Given the description of an element on the screen output the (x, y) to click on. 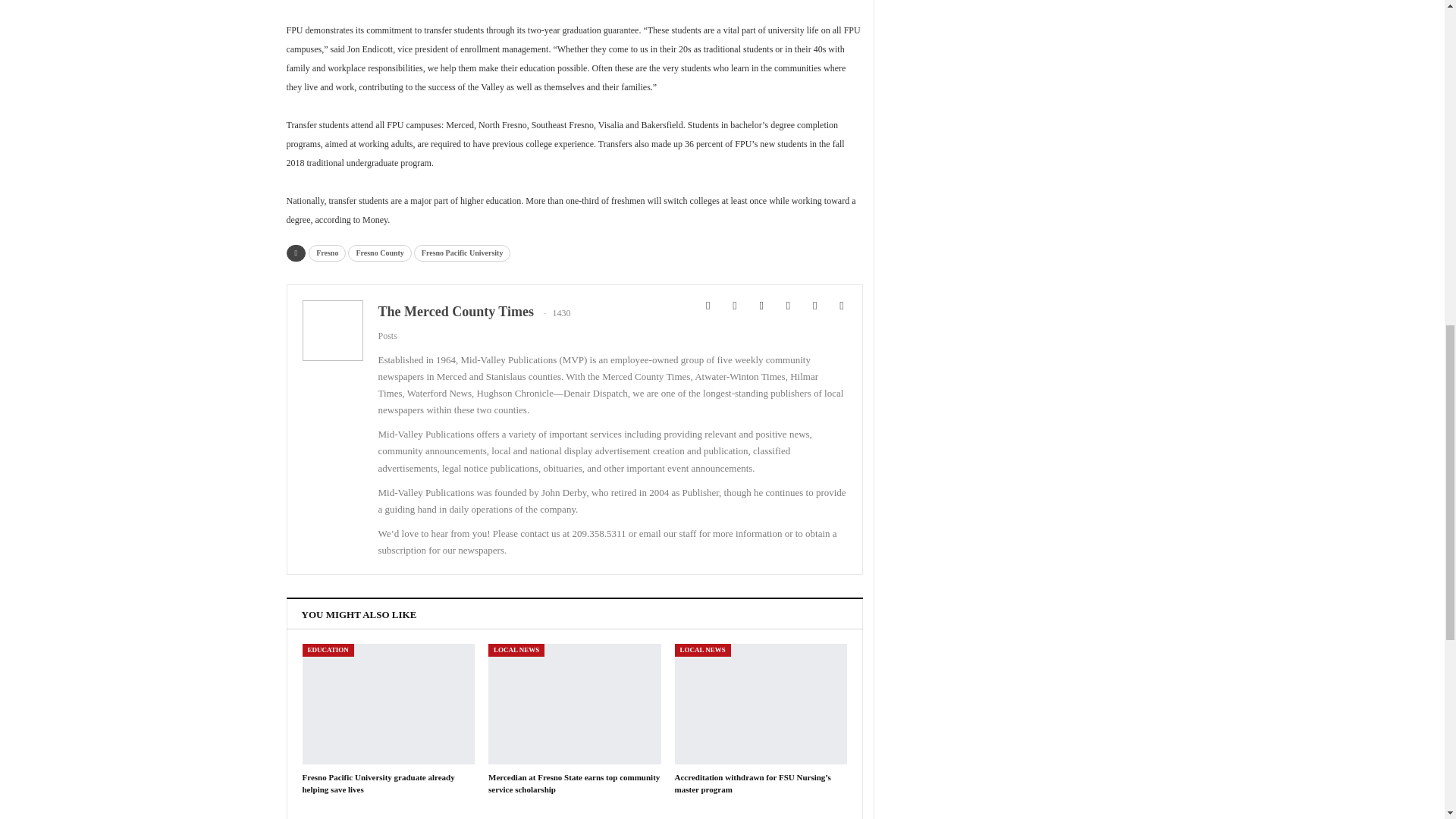
Fresno (327, 252)
